Given the description of an element on the screen output the (x, y) to click on. 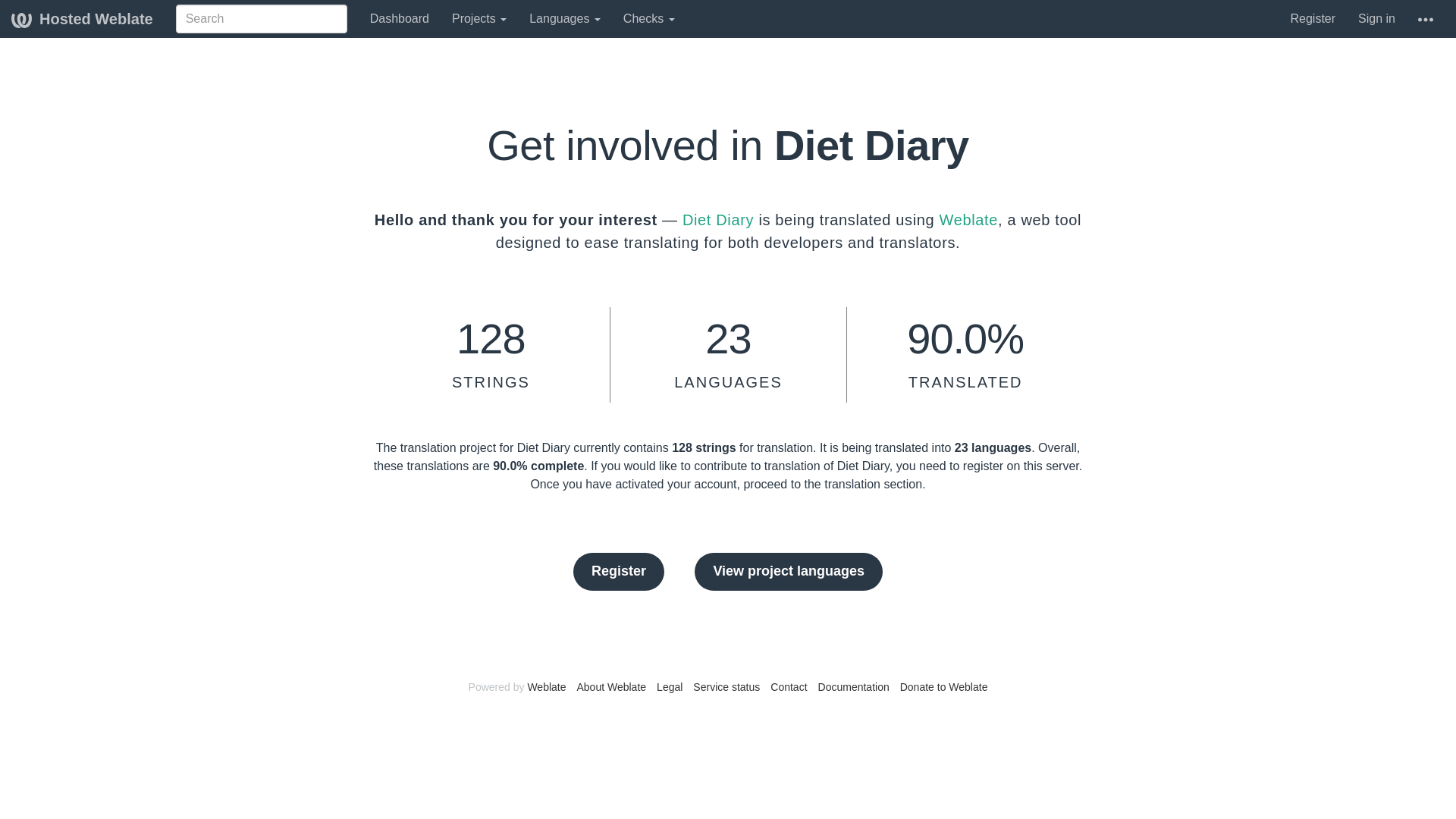
Weblate (968, 219)
Service status (726, 686)
Diet Diary (718, 219)
About Weblate (611, 686)
Register (1312, 18)
Donate to Weblate (943, 686)
Contact (788, 686)
View project languages (788, 571)
Help (1425, 18)
Weblate (546, 686)
Hosted Weblate (82, 18)
Register (618, 571)
Legal (669, 686)
Dashboard (399, 18)
Checks (648, 18)
